Given the description of an element on the screen output the (x, y) to click on. 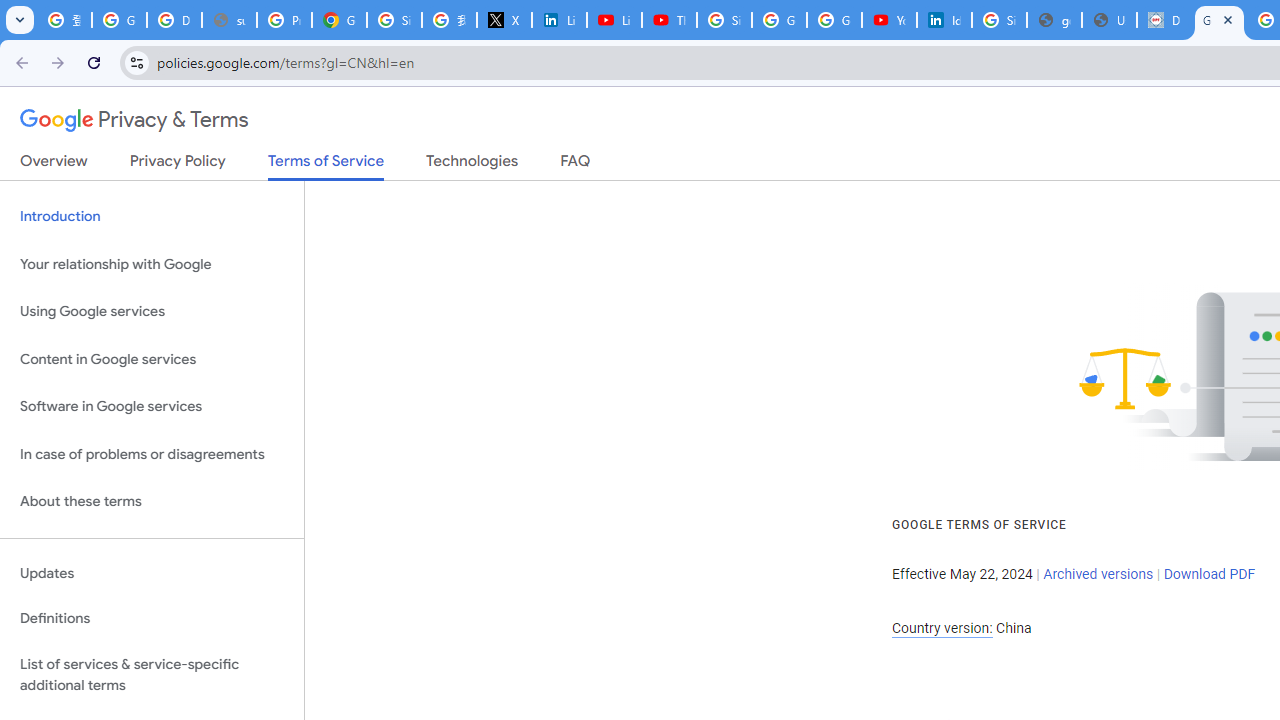
Introduction (152, 216)
Sign in - Google Accounts (998, 20)
Updates (152, 573)
LinkedIn Privacy Policy (559, 20)
Definitions (152, 619)
Data Privacy Framework (1163, 20)
Using Google services (152, 312)
In case of problems or disagreements (152, 453)
Software in Google services (152, 407)
